Given the description of an element on the screen output the (x, y) to click on. 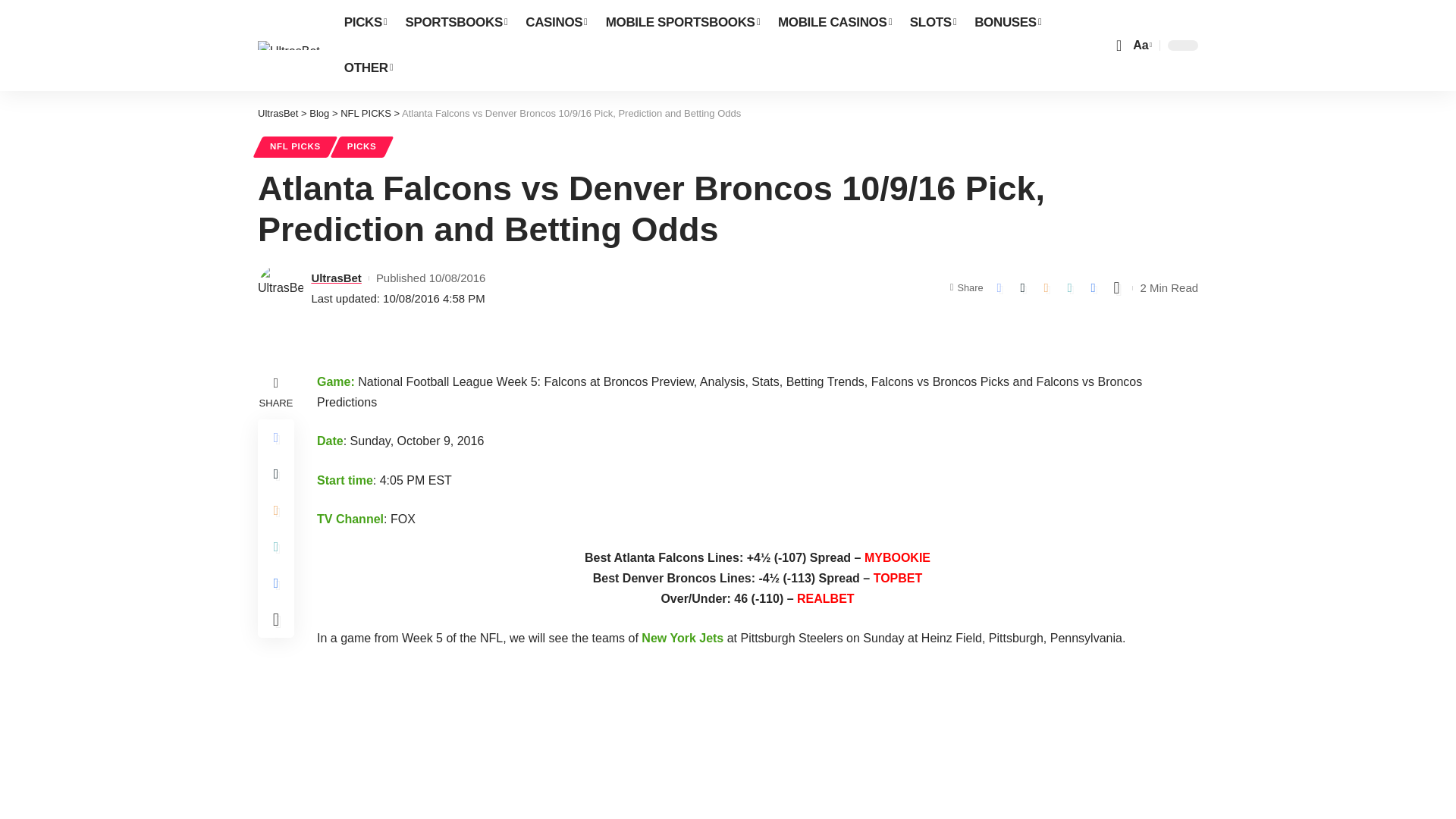
UltrasBet (288, 45)
PICKS (365, 22)
Go to Blog. (318, 112)
New York Jets (682, 636)
SPORTSBOOKS (456, 22)
Go to the NFL PICKS Category archives. (365, 112)
Go to UltrasBet. (277, 112)
